Given the description of an element on the screen output the (x, y) to click on. 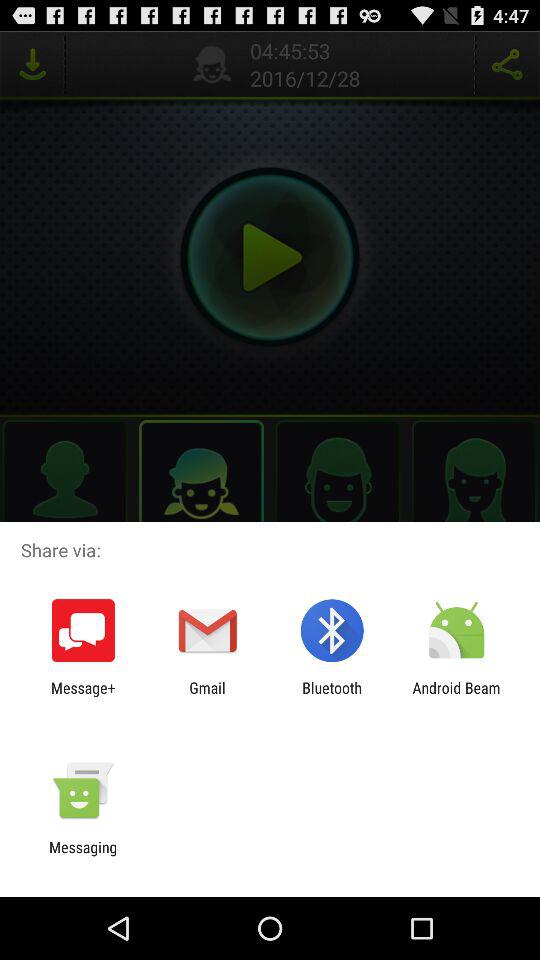
select item next to the message+ (207, 696)
